Given the description of an element on the screen output the (x, y) to click on. 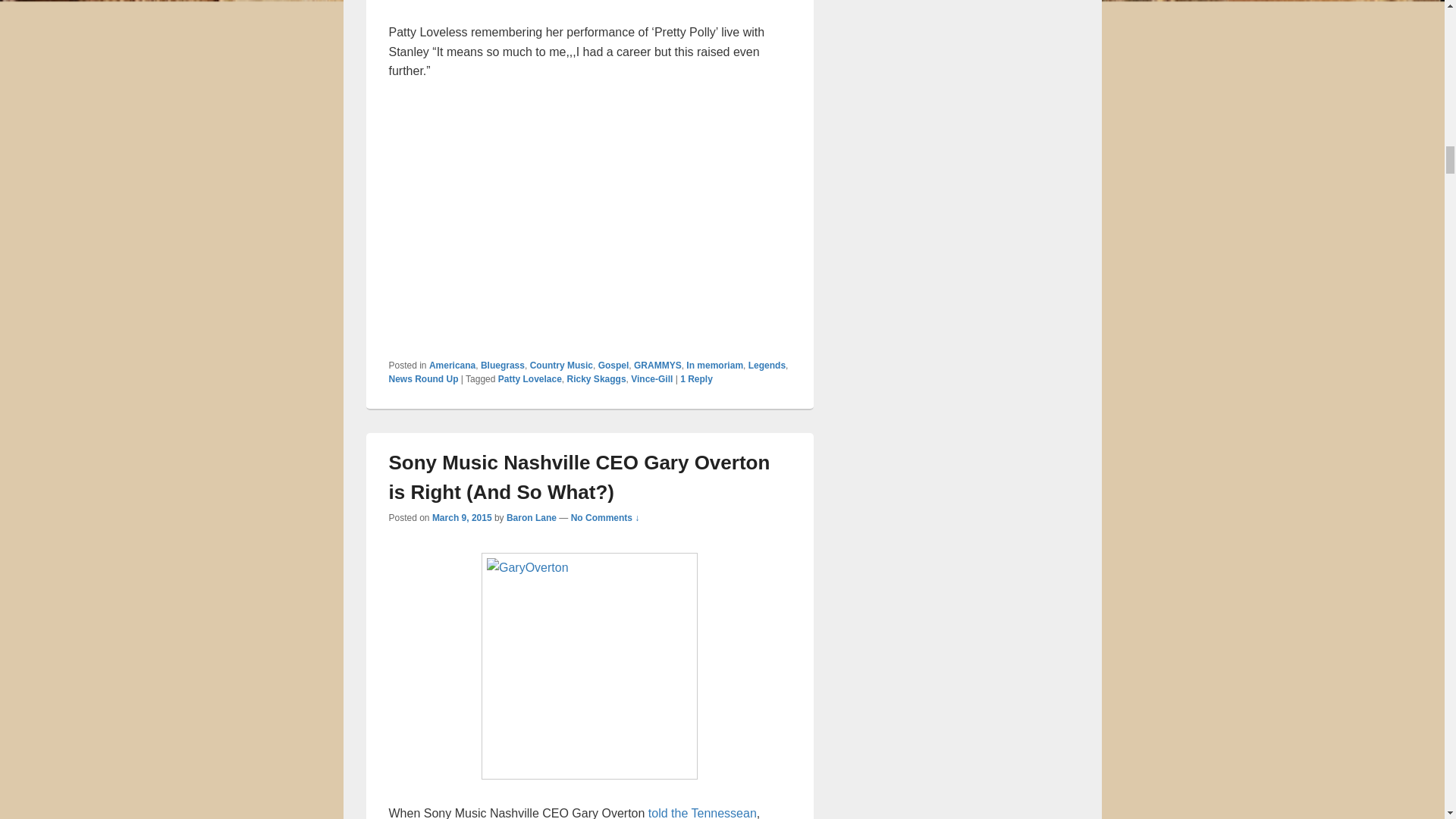
View all posts by Baron Lane (531, 517)
9:20 am (462, 517)
